Given the description of an element on the screen output the (x, y) to click on. 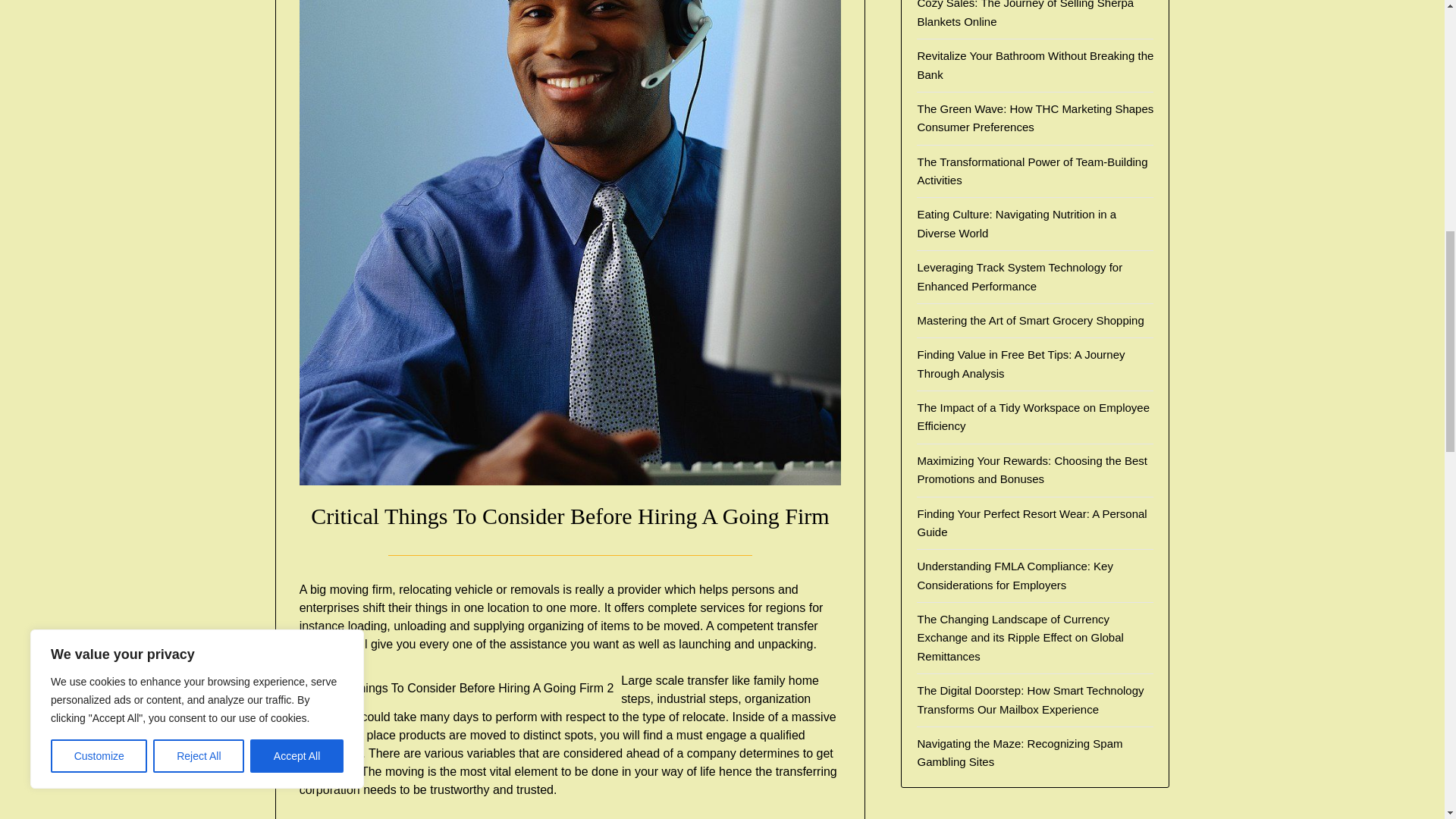
Mastering the Art of Smart Grocery Shopping (1029, 319)
Revitalize Your Bathroom Without Breaking the Bank (1035, 64)
Finding Value in Free Bet Tips: A Journey Through Analysis (1020, 363)
Eating Culture: Navigating Nutrition in a Diverse World (1016, 223)
Cozy Sales: The Journey of Selling Sherpa Blankets Online (1025, 13)
The Impact of a Tidy Workspace on Employee Efficiency (1033, 416)
Leveraging Track System Technology for Enhanced Performance (1019, 276)
The Transformational Power of Team-Building Activities (1032, 170)
